Given the description of an element on the screen output the (x, y) to click on. 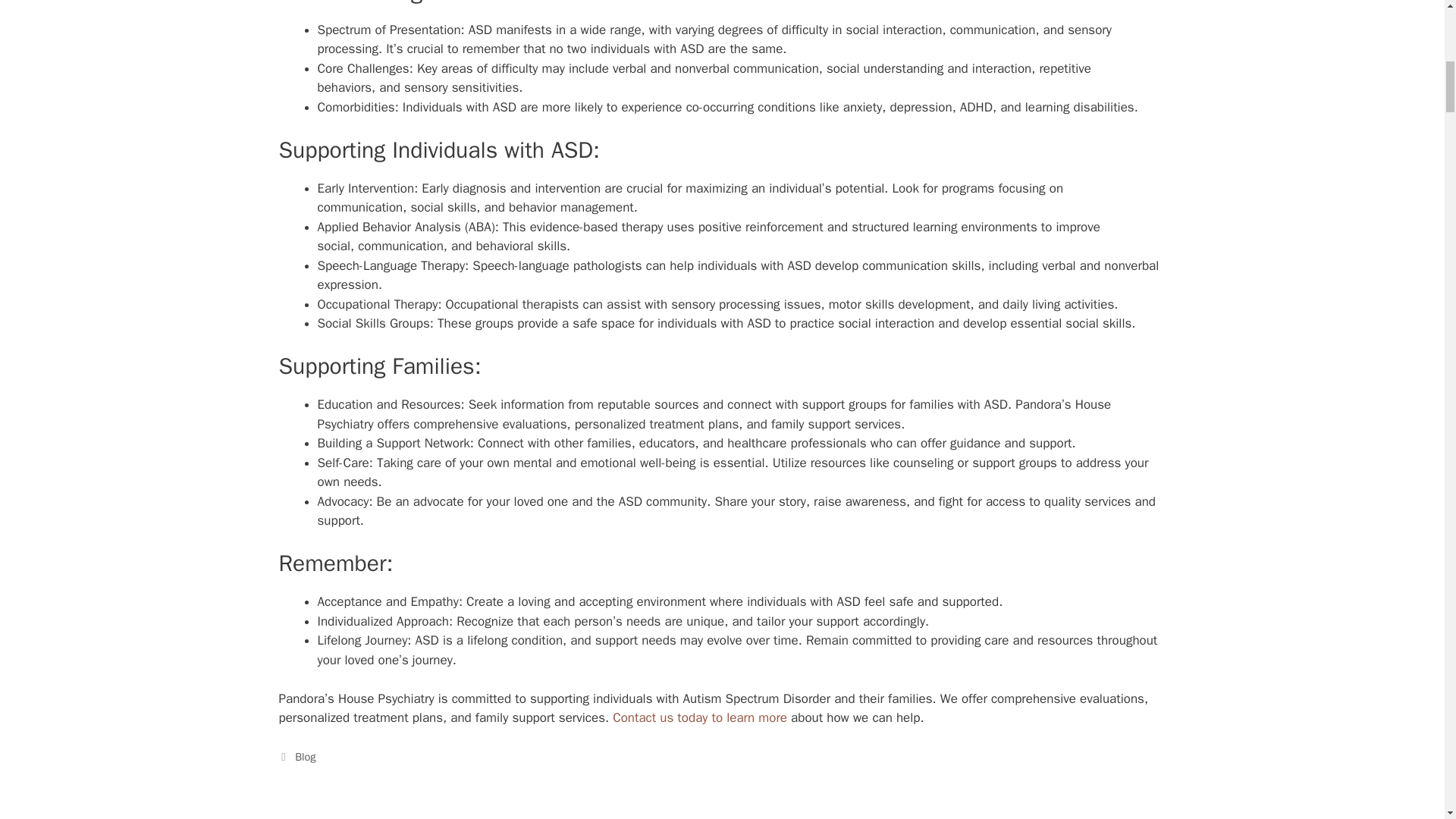
Contact us today to learn more (699, 717)
Blog (305, 756)
